Given the description of an element on the screen output the (x, y) to click on. 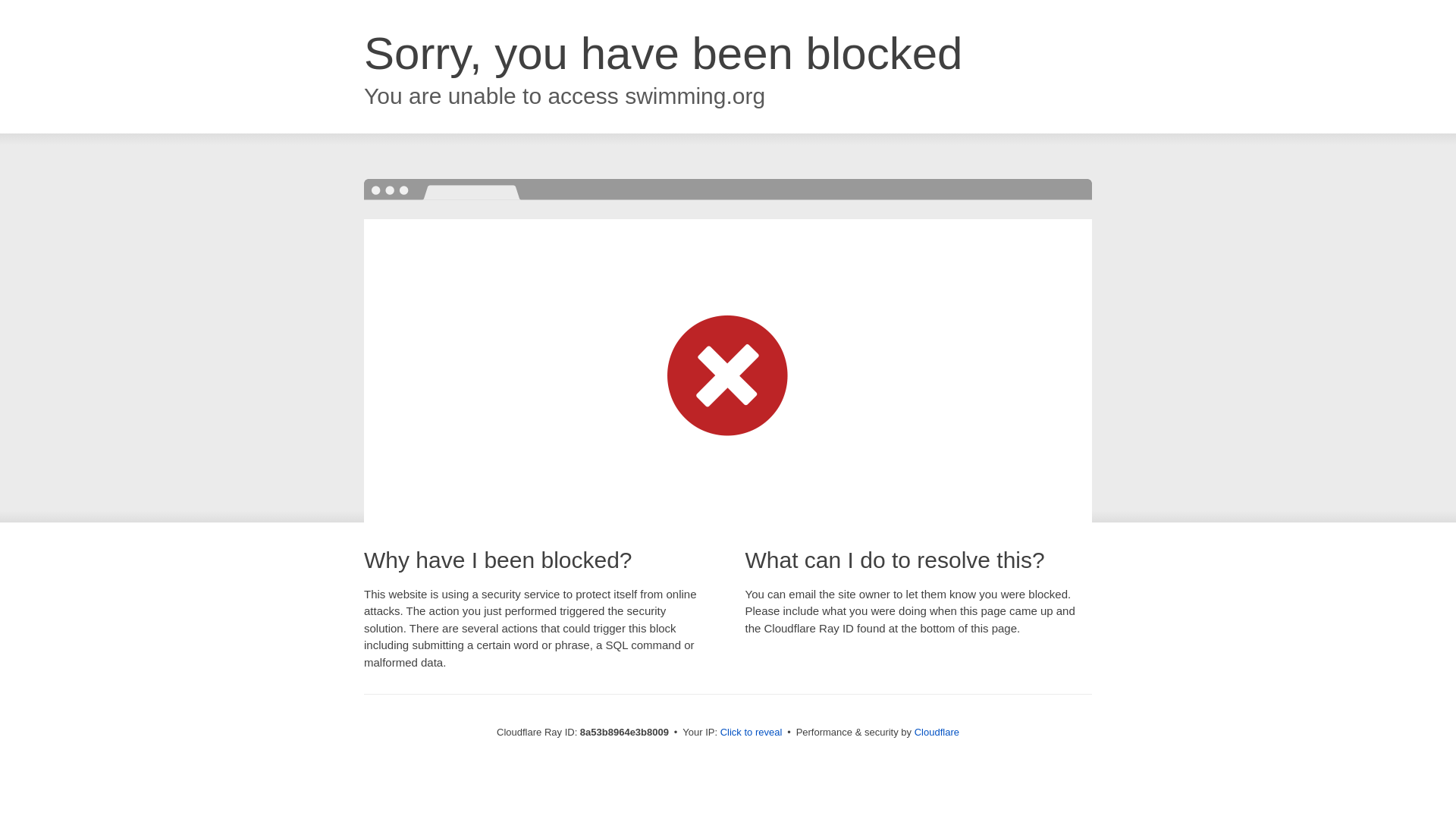
Cloudflare (936, 731)
Click to reveal (751, 732)
